Given the description of an element on the screen output the (x, y) to click on. 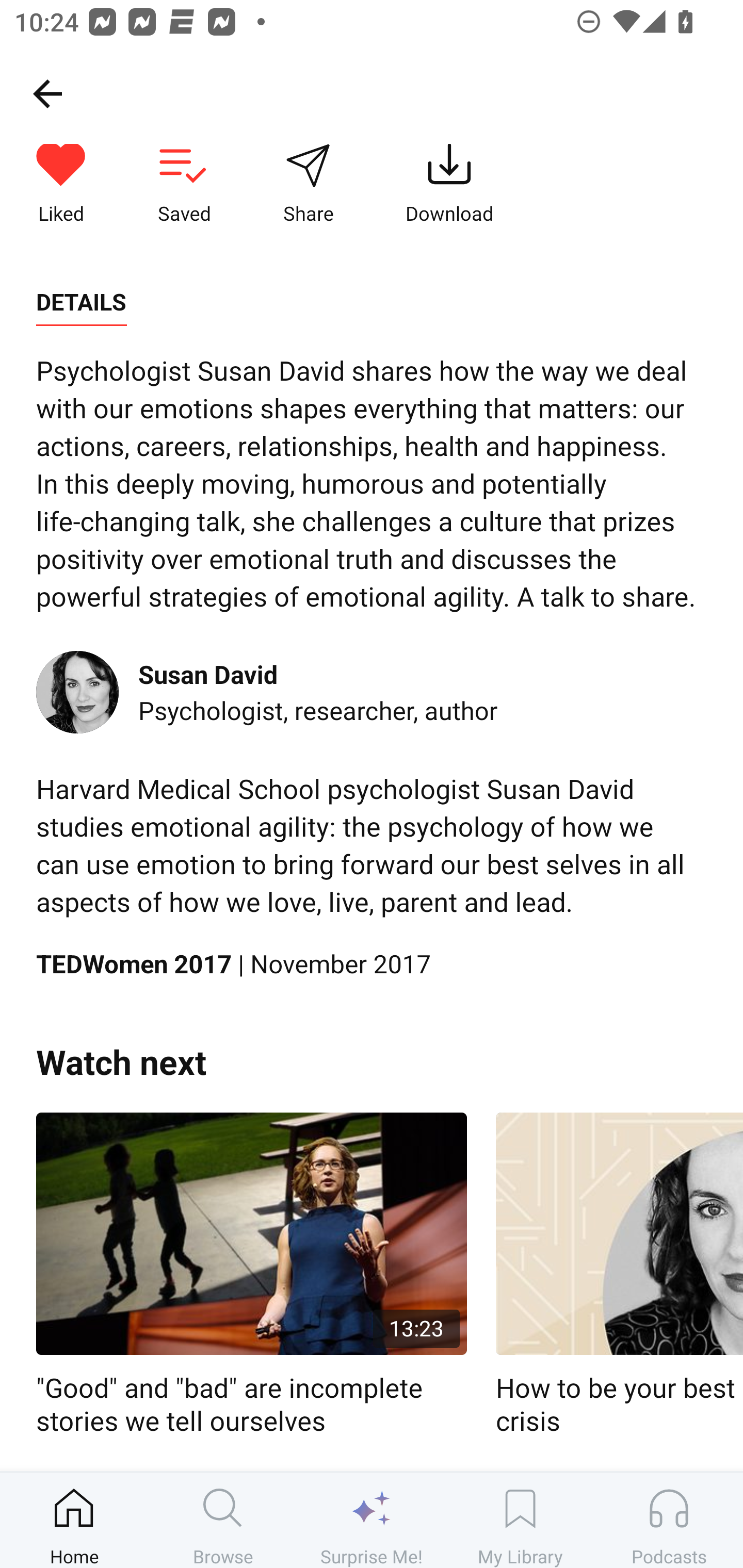
Home, back (47, 92)
Liked (60, 184)
Saved (183, 184)
Share (308, 184)
Download (449, 184)
DETAILS (80, 302)
How to be your best self in times of crisis (619, 1275)
Home (74, 1520)
Browse (222, 1520)
Surprise Me! (371, 1520)
My Library (519, 1520)
Podcasts (668, 1520)
